Given the description of an element on the screen output the (x, y) to click on. 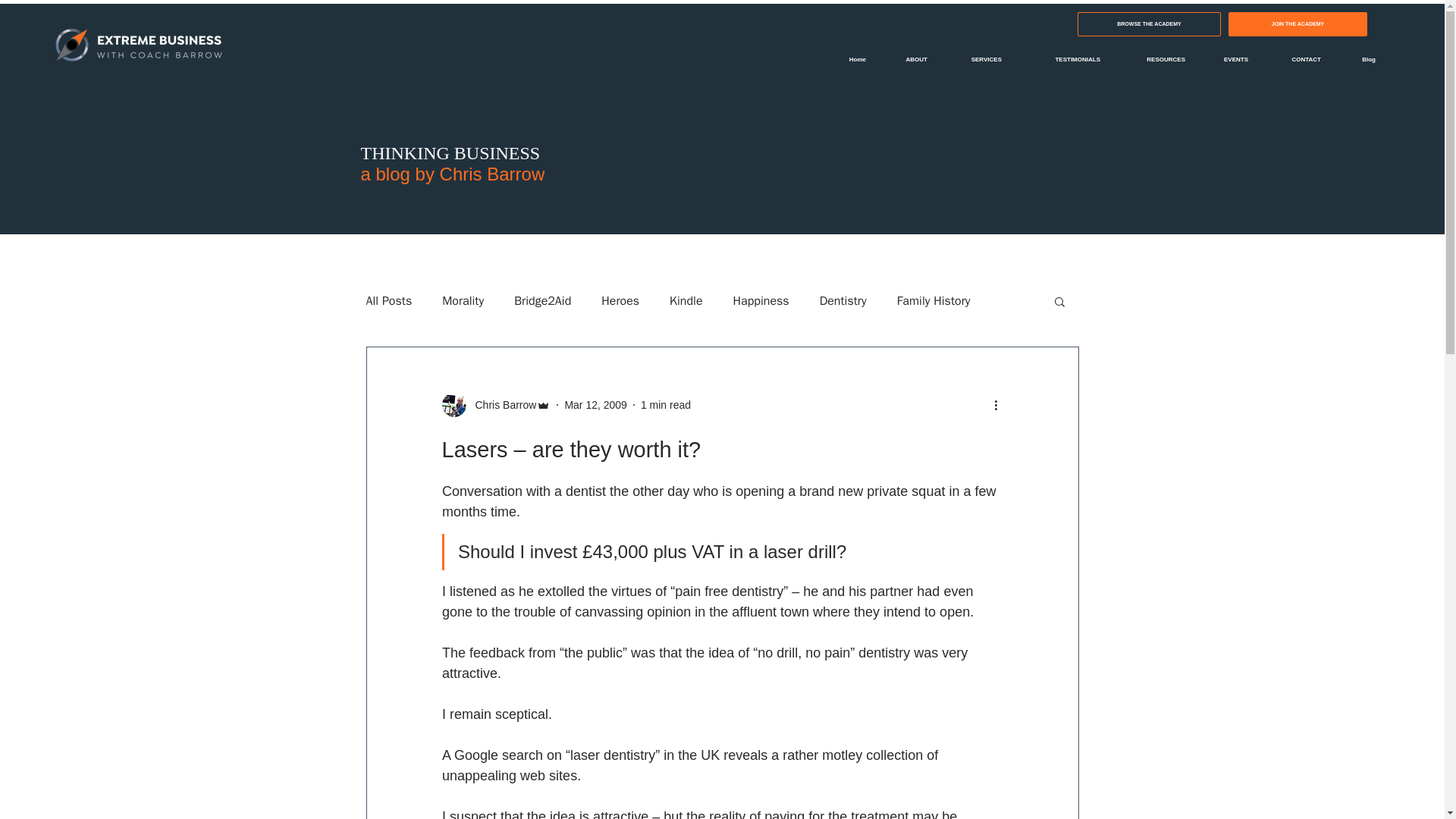
Chris Barrow (500, 405)
Blog (1359, 59)
JOIN THE ACADEMY (1297, 24)
Morality (462, 300)
All Posts (388, 300)
RESOURCES (1154, 59)
Home (849, 59)
Family History (933, 300)
Happiness (761, 300)
ABOUT (908, 59)
Mar 12, 2009 (595, 404)
Dentistry (842, 300)
Bridge2Aid (541, 300)
EVENTS (1227, 59)
TESTIMONIALS (1062, 59)
